Given the description of an element on the screen output the (x, y) to click on. 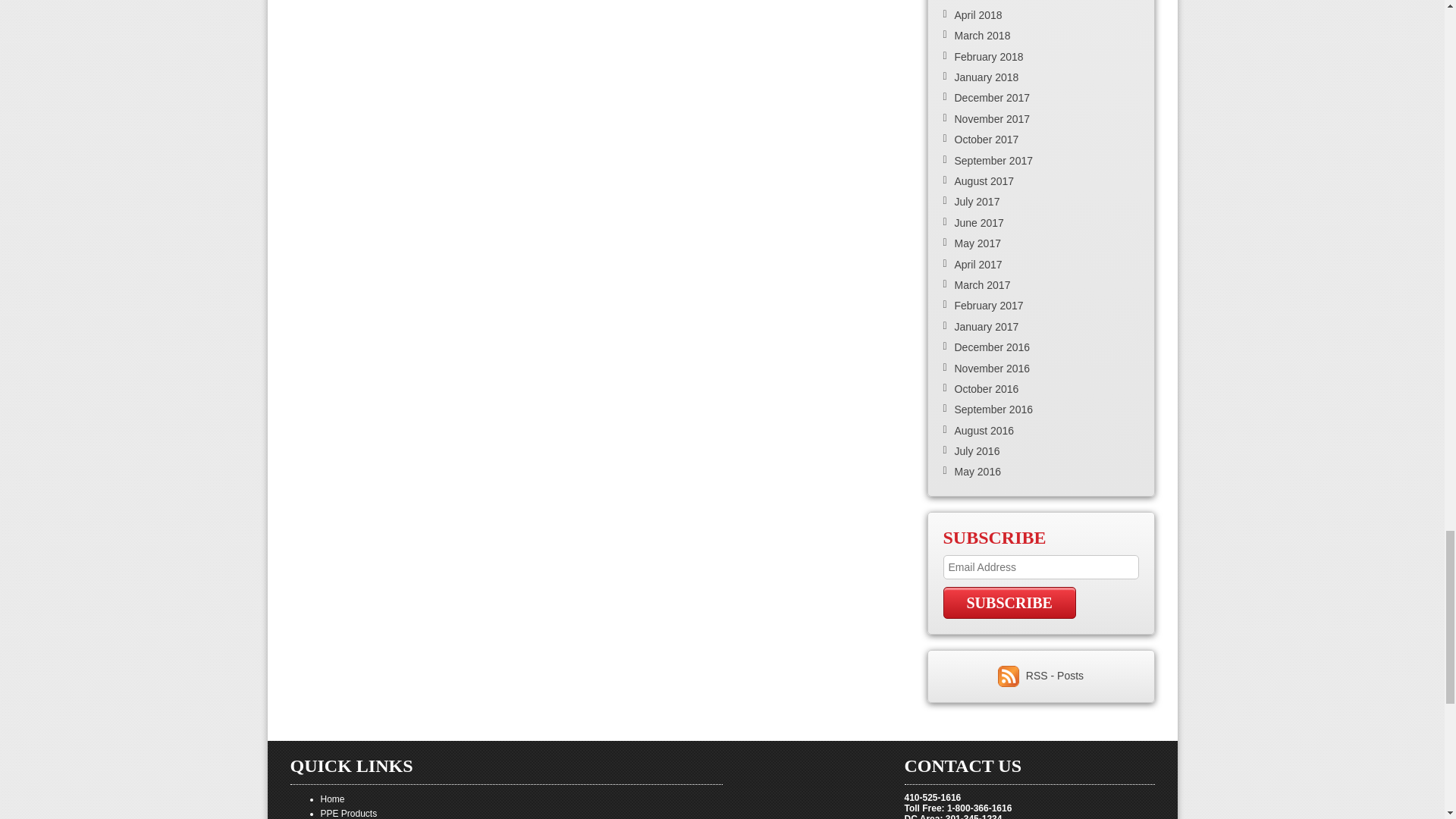
Subscribe to Posts (1010, 675)
Subscribe to Posts (1054, 675)
